Given the description of an element on the screen output the (x, y) to click on. 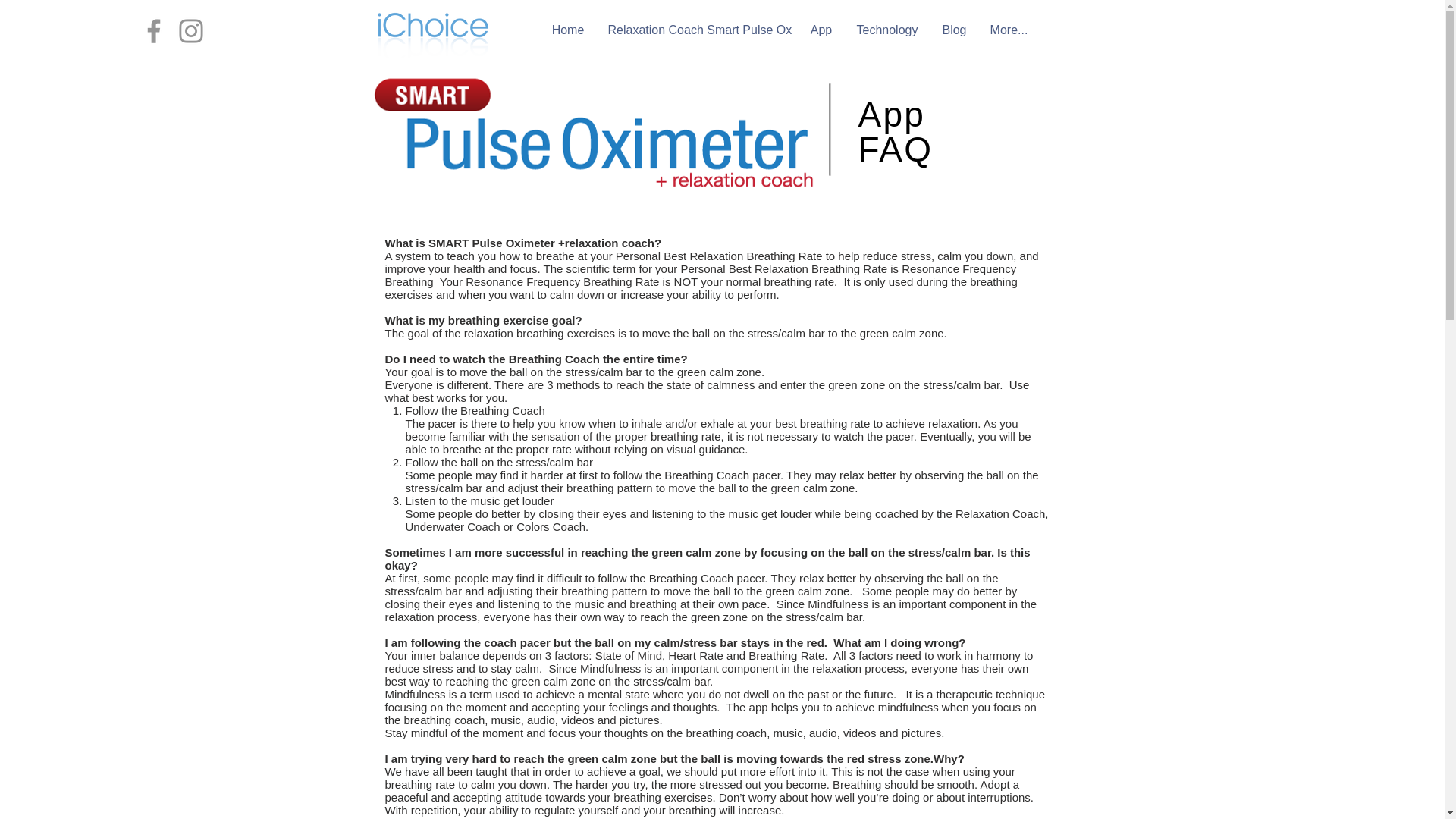
Blog (954, 29)
Technology (887, 29)
Relaxation Coach Smart Pulse Ox (696, 29)
App (820, 29)
Home (568, 29)
